Given the description of an element on the screen output the (x, y) to click on. 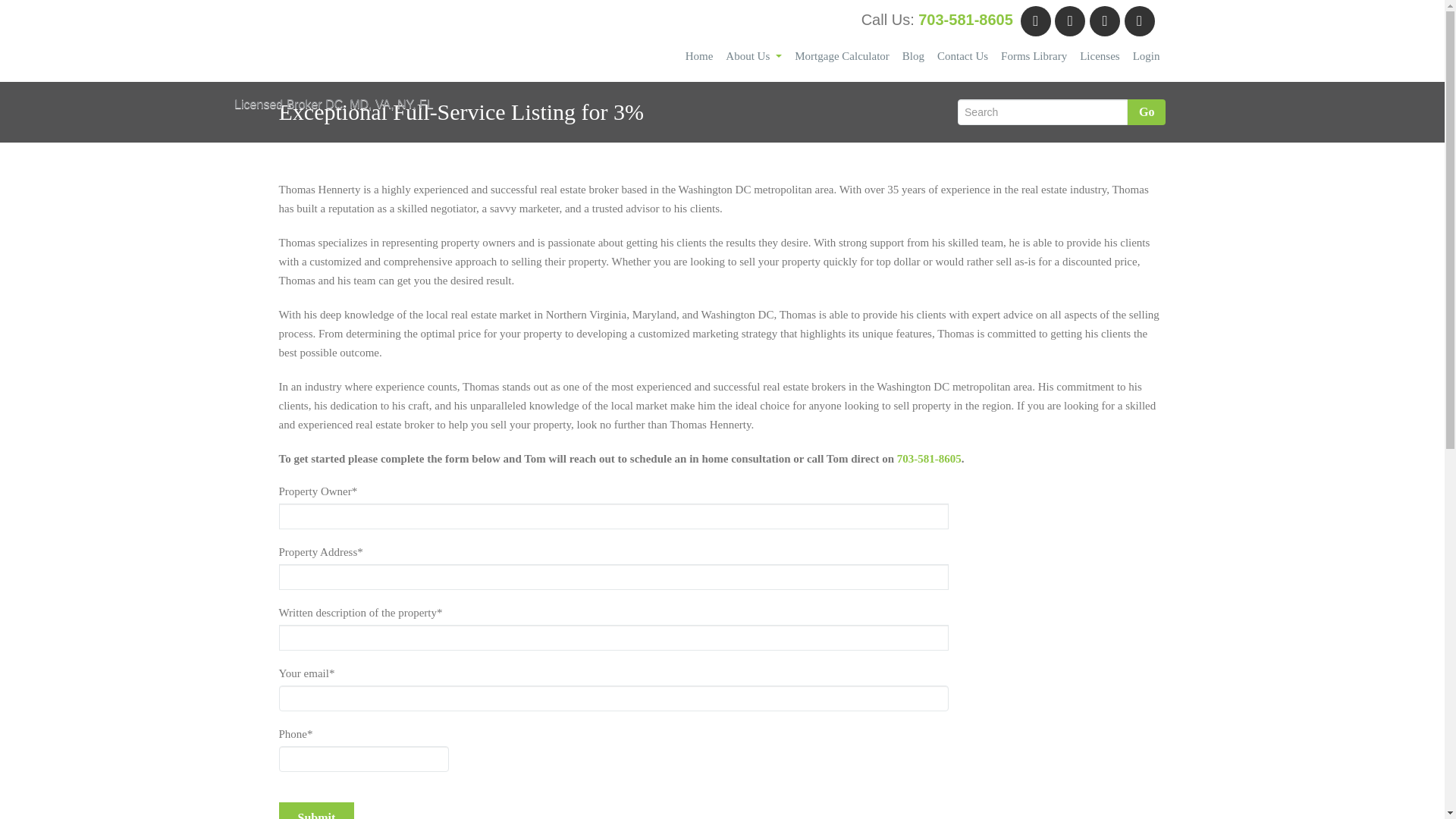
About Us (753, 55)
Forms Library (1033, 55)
Contact Us (962, 55)
703-581-8605 (965, 19)
Submit (317, 810)
Licenses (1099, 55)
Login (1145, 55)
Submit (317, 810)
Go (1146, 112)
703-581-8605 (928, 458)
